Given the description of an element on the screen output the (x, y) to click on. 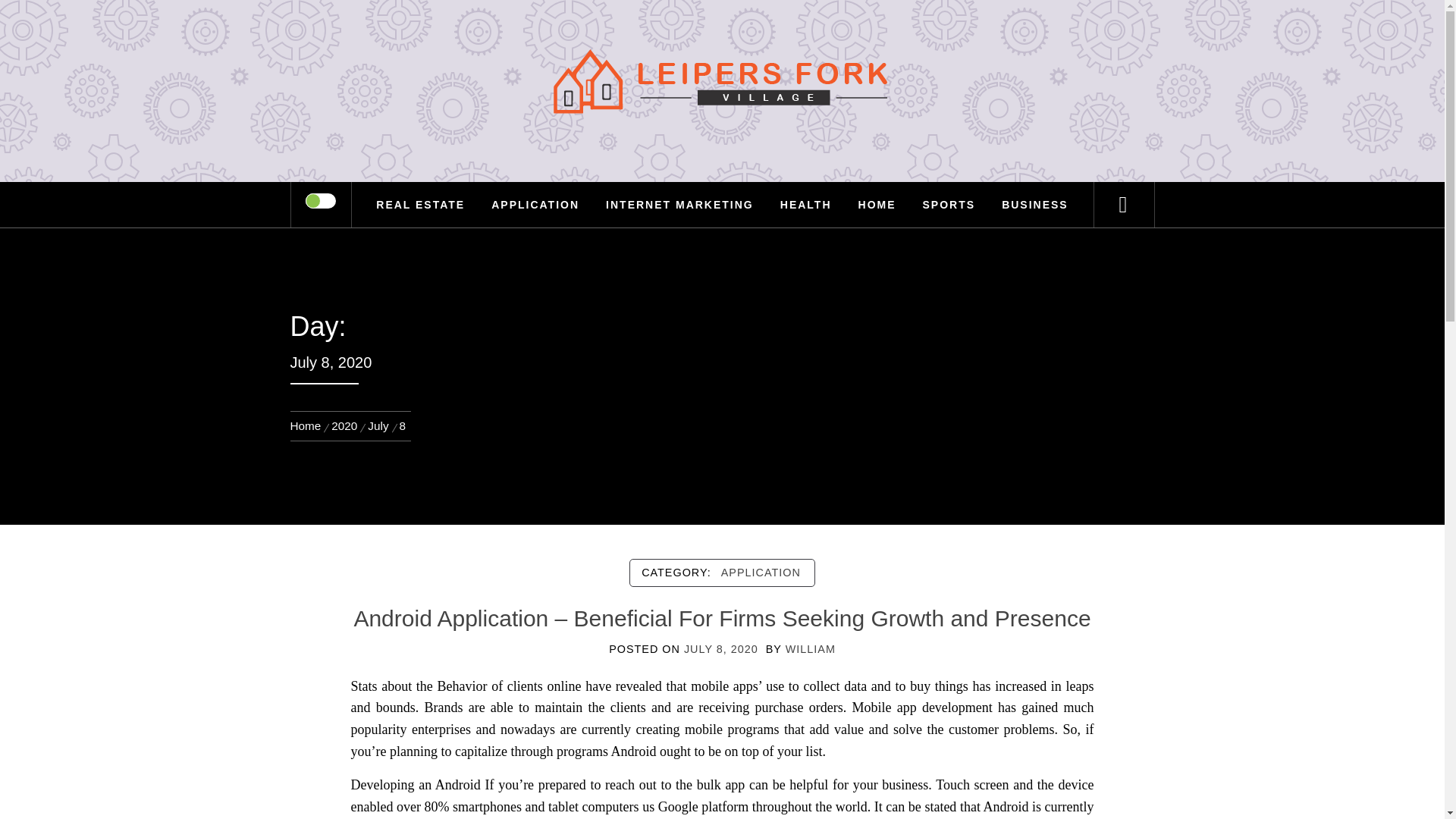
Search (797, 33)
APPLICATION (535, 204)
2020 (344, 425)
WILLIAM (810, 648)
LEIPERS FORK VILLAGE (722, 135)
BUSINESS (1035, 204)
REAL ESTATE (420, 204)
JULY 8, 2020 (721, 648)
APPLICATION (760, 572)
SPORTS (949, 204)
INTERNET MARKETING (679, 204)
Home (307, 425)
July (377, 425)
HOME (877, 204)
HEALTH (805, 204)
